Given the description of an element on the screen output the (x, y) to click on. 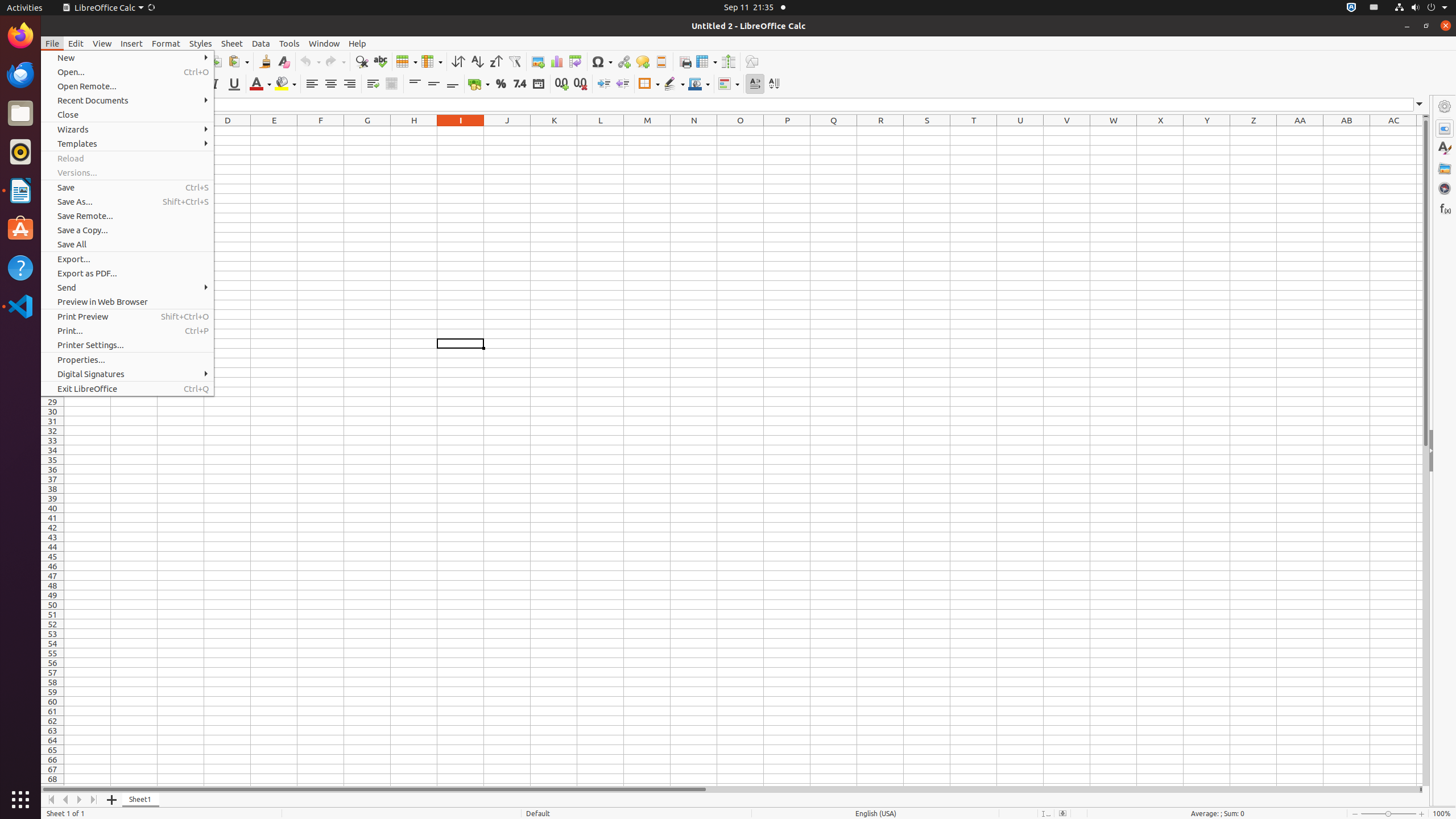
Move To Home Element type: push-button (51, 799)
File Element type: menu (51, 43)
Freeze Rows and Columns Element type: push-button (705, 61)
